Given the description of an element on the screen output the (x, y) to click on. 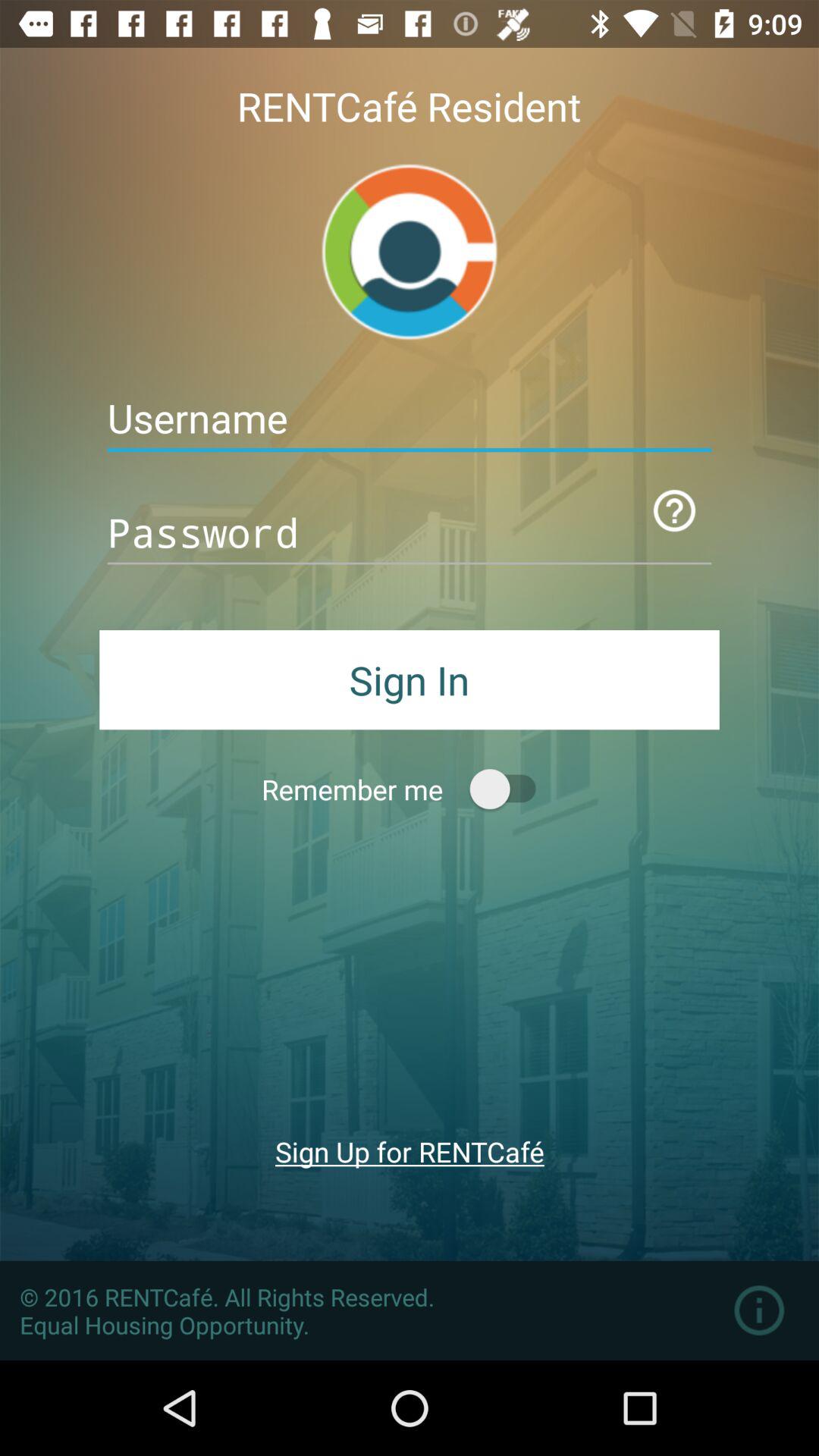
texte box to fill in password (409, 532)
